Given the description of an element on the screen output the (x, y) to click on. 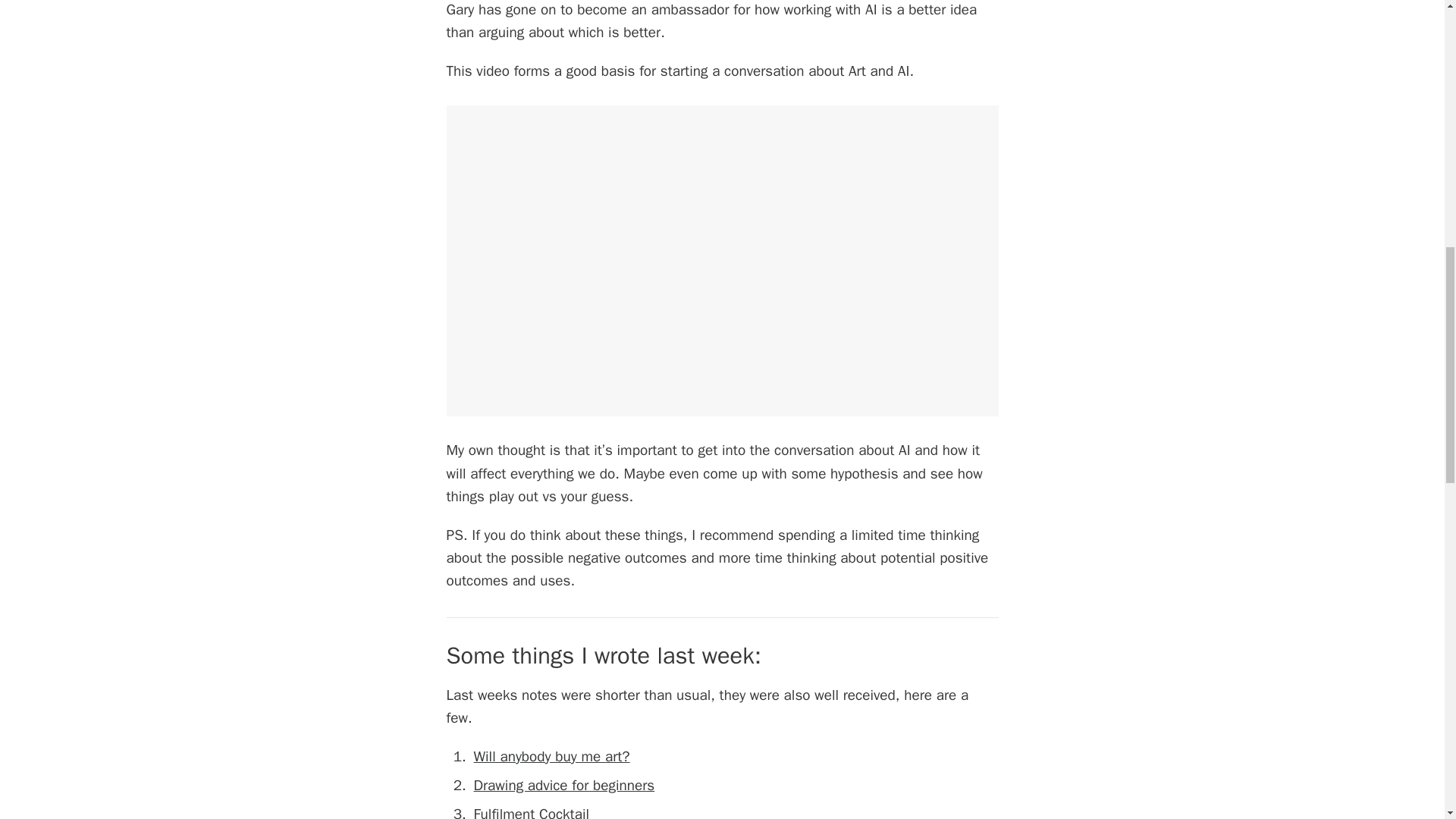
Fulfilment Cocktail (531, 812)
Will anybody buy me art? (550, 756)
Drawing advice for beginners (563, 785)
